Given the description of an element on the screen output the (x, y) to click on. 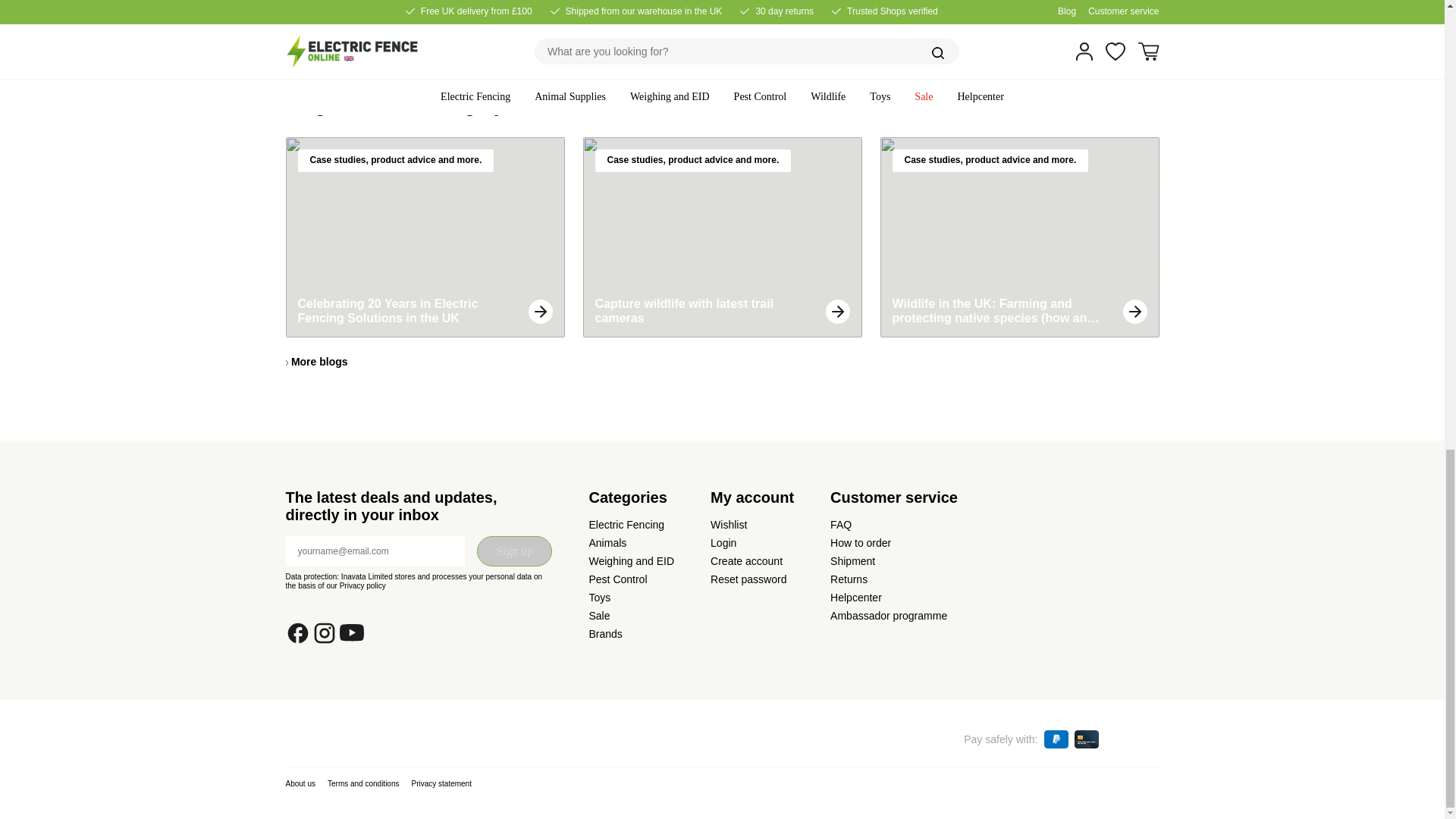
Shipment (852, 561)
Toys (599, 597)
Weighing and EID (631, 561)
Login (723, 542)
Sale (599, 615)
Reset password (748, 579)
Electric Fencing (625, 524)
Create account (746, 561)
Brands (604, 633)
Pest Control (617, 579)
Animals (607, 542)
FAQ (840, 524)
Wishlist (728, 524)
How to order (860, 542)
